Given the description of an element on the screen output the (x, y) to click on. 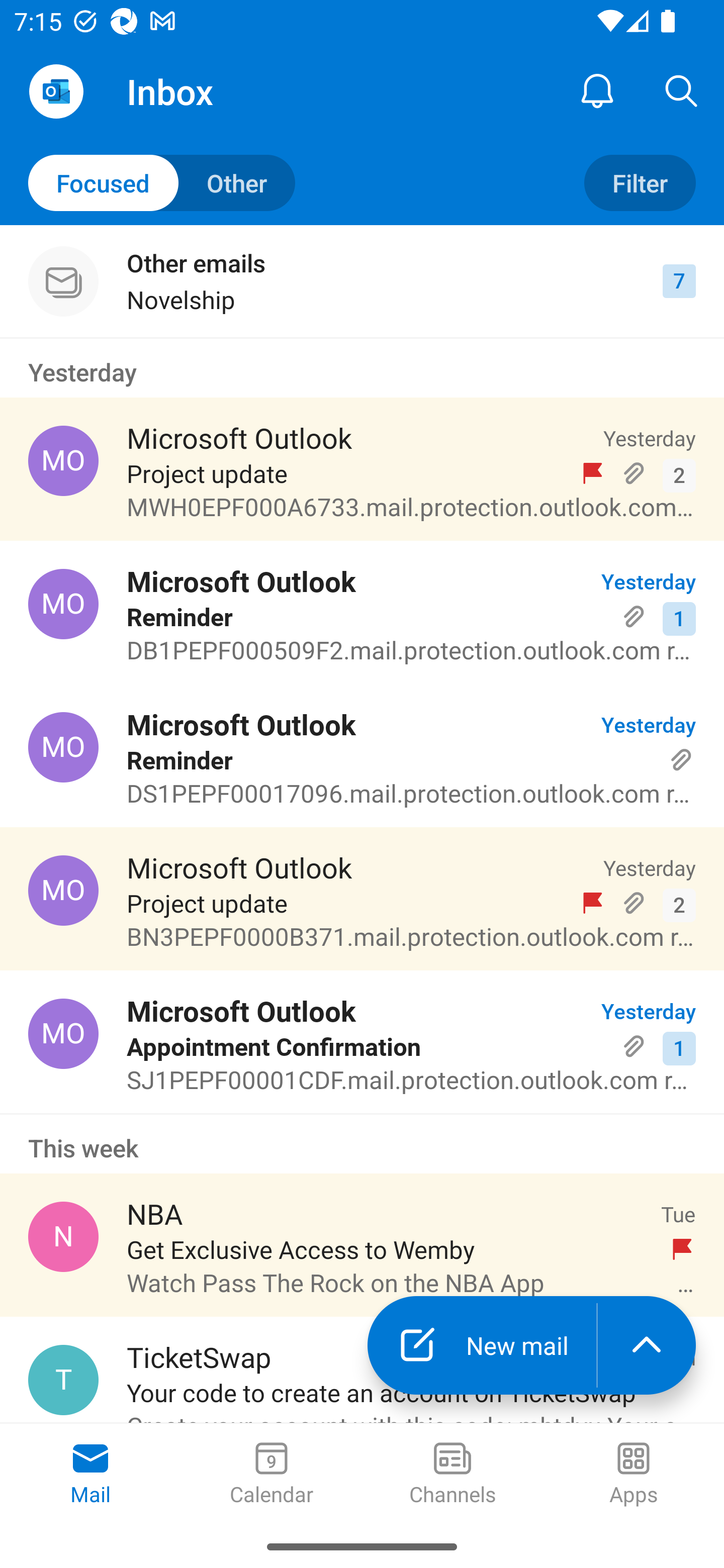
Notification Center (597, 90)
Search, ,  (681, 90)
Open Navigation Drawer (55, 91)
Toggle to other mails (161, 183)
Filter (639, 183)
Other emails Novelship 7 (362, 281)
NBA, NBA@email.nba.com (63, 1236)
New mail (481, 1344)
launch the extended action menu (646, 1344)
TicketSwap, info@ticketswap.com (63, 1380)
Calendar (271, 1474)
Channels (452, 1474)
Apps (633, 1474)
